Given the description of an element on the screen output the (x, y) to click on. 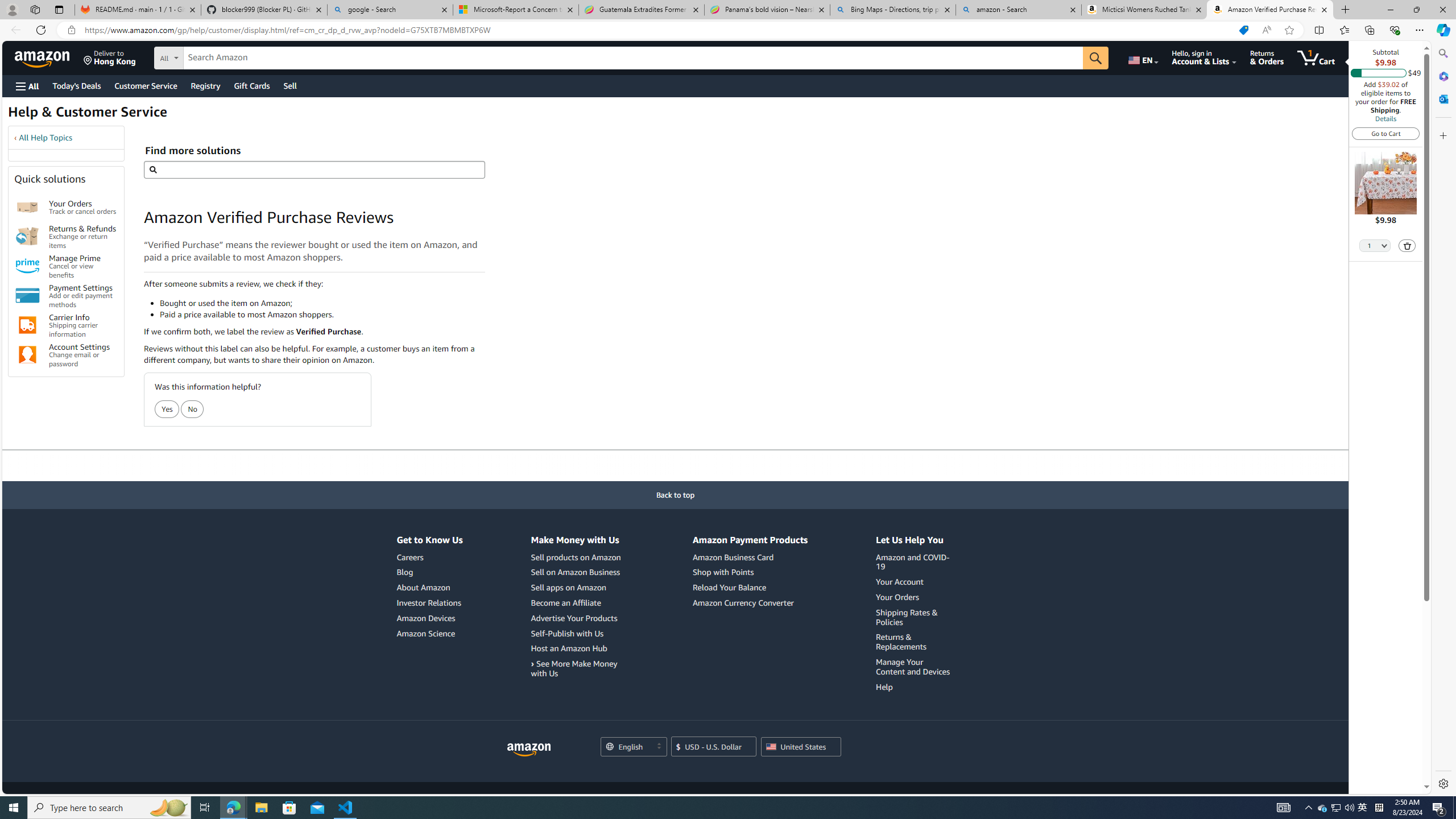
Go to Cart (1385, 133)
Account Settings Change email or password (82, 354)
Amazon and COVID-19 (912, 562)
Account Settings (27, 354)
Careers (429, 557)
Yes (167, 408)
Self-Publish with Us (566, 633)
Your Account (914, 582)
Help & Customer Service (87, 114)
Become an Affiliate (565, 602)
Choose a country/region for shopping. (800, 746)
